Given the description of an element on the screen output the (x, y) to click on. 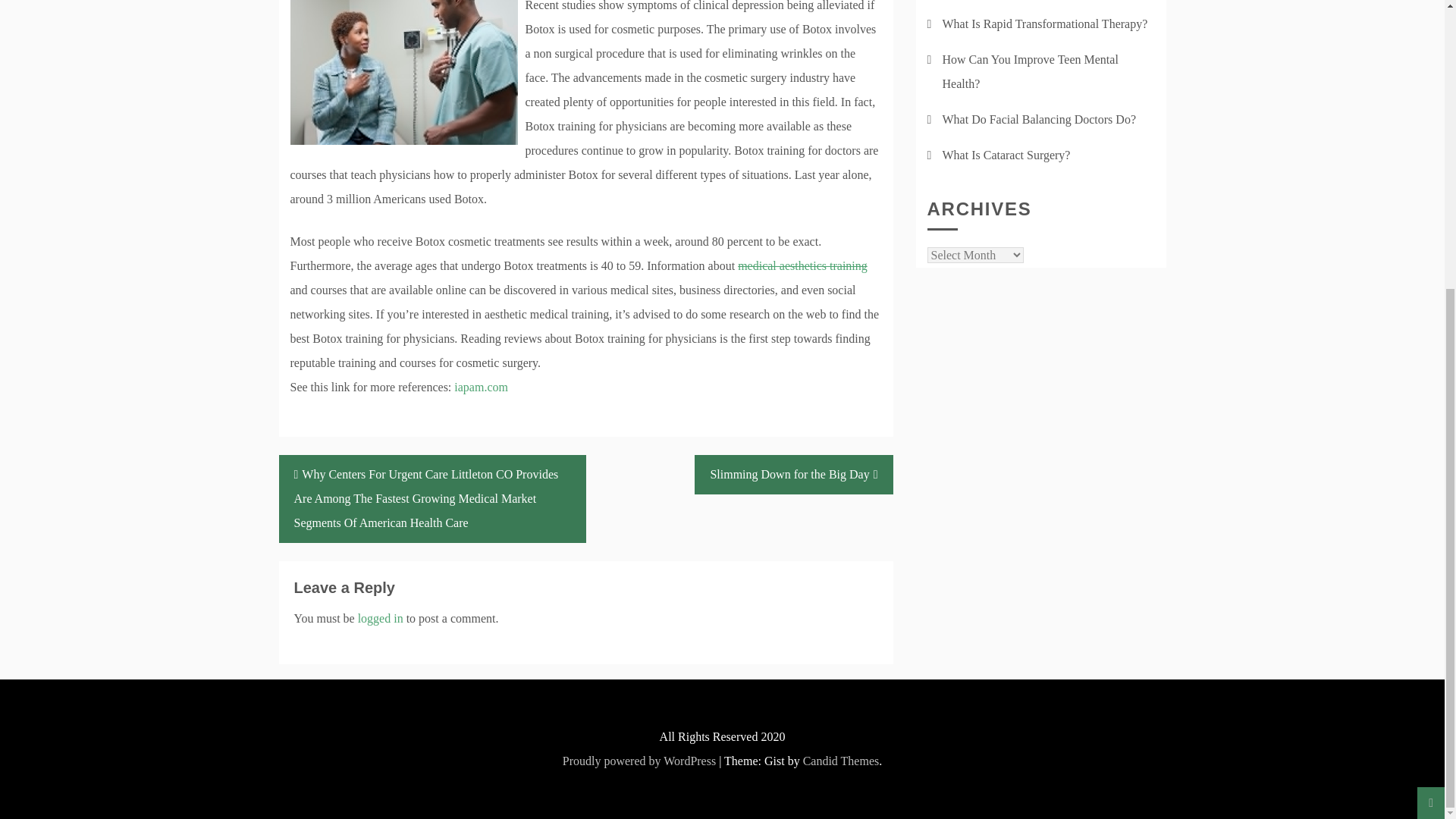
Proudly powered by WordPress (639, 760)
medical aesthetics training (802, 265)
Candid Themes (841, 760)
For the real stuff on Botox training for physicians (481, 386)
Botox training for doctors, Botox training for physicians (802, 265)
logged in (380, 617)
What Is Cataract Surgery? (1006, 154)
How Can You Improve Teen Mental Health? (1030, 71)
iapam.com (481, 386)
Slimming Down for the Big Day (793, 474)
What Is Rapid Transformational Therapy? (1044, 23)
What Do Facial Balancing Doctors Do? (1038, 119)
